Given the description of an element on the screen output the (x, y) to click on. 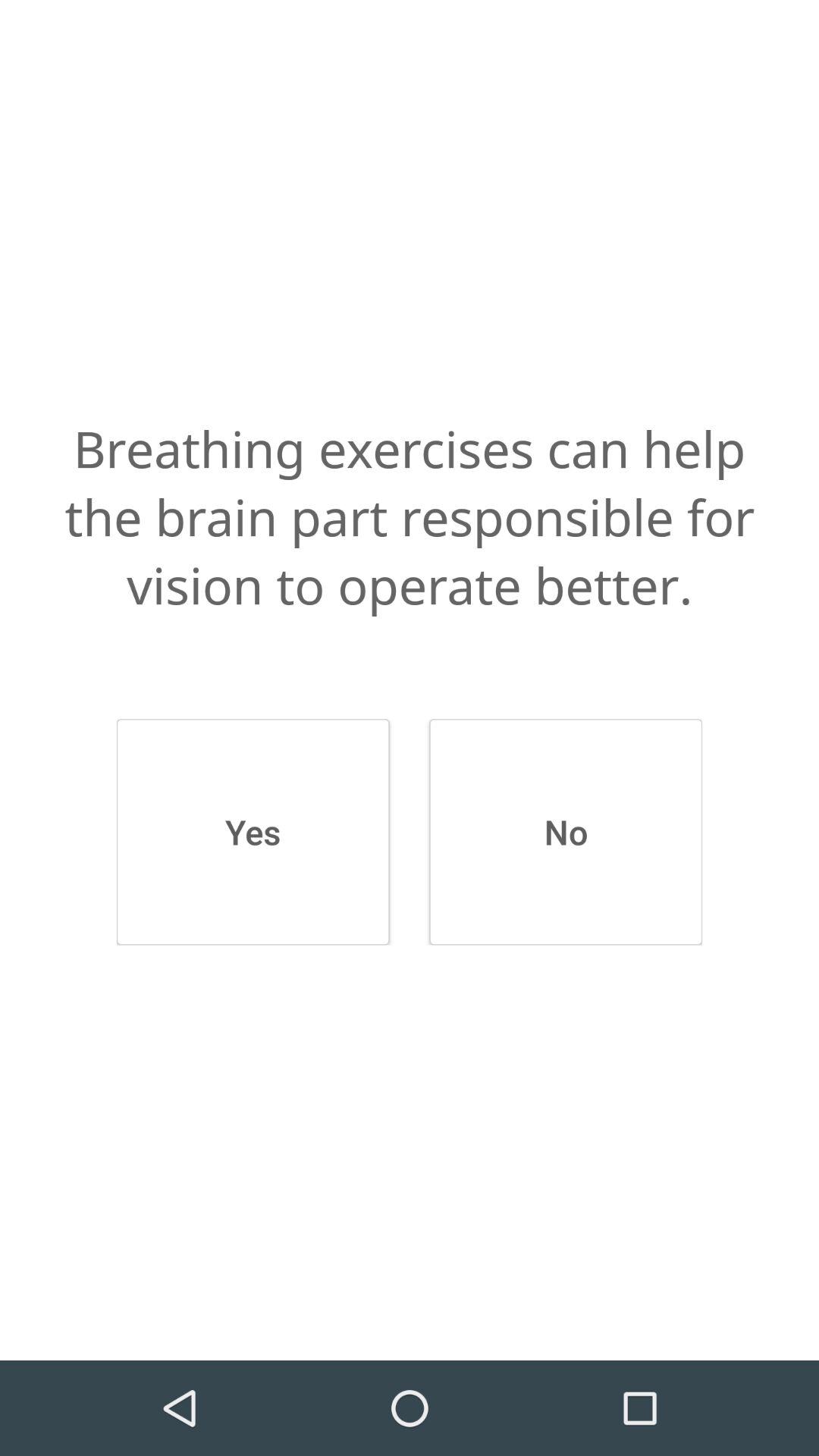
select yes item (252, 831)
